Given the description of an element on the screen output the (x, y) to click on. 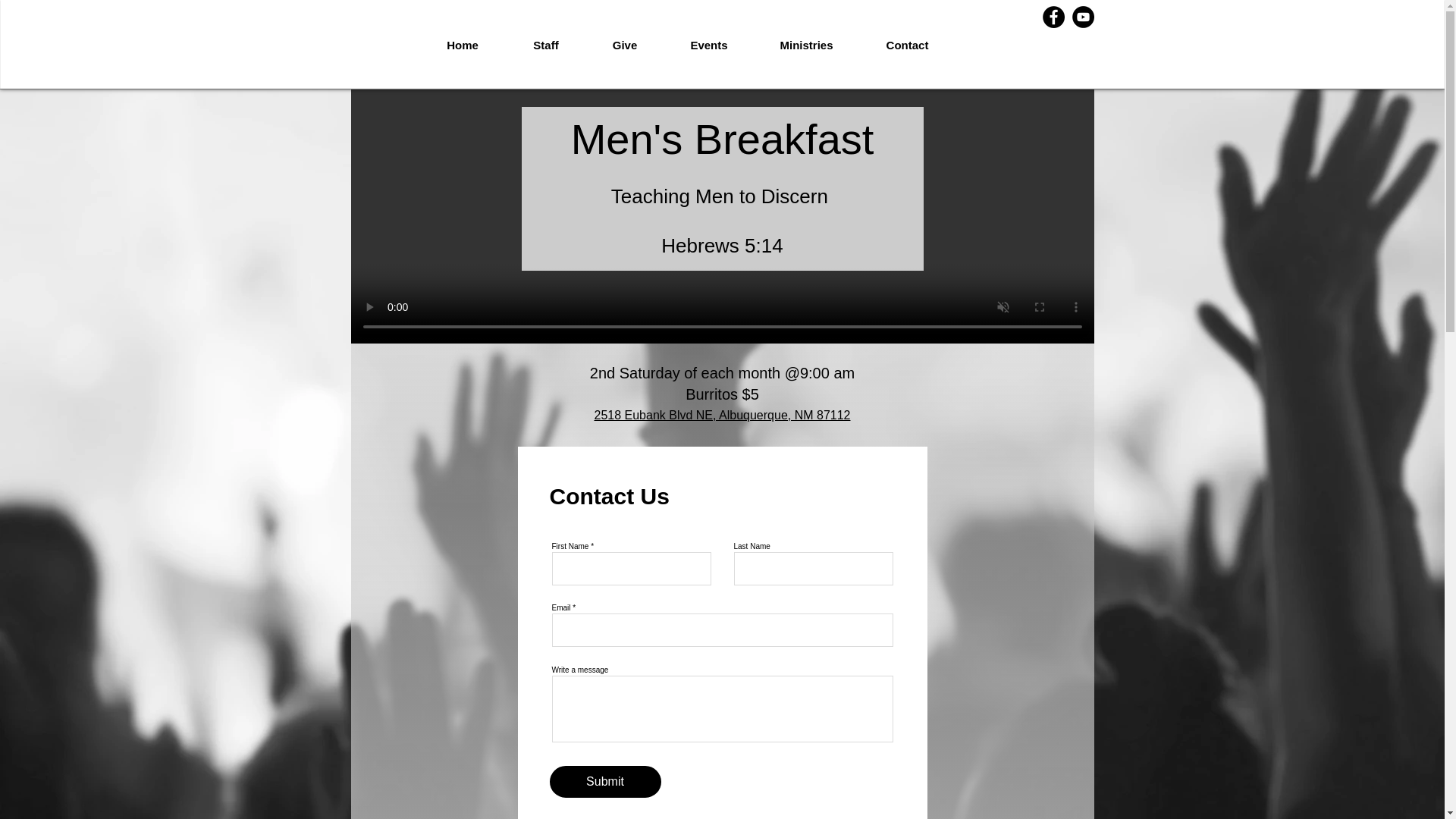
2518 Eubank Blvd NE, Albuquerque, NM 87112 (722, 414)
Home (462, 45)
Contact (907, 45)
Submit (604, 781)
Staff (546, 45)
Ministries (806, 45)
Give (624, 45)
Events (708, 45)
